Given the description of an element on the screen output the (x, y) to click on. 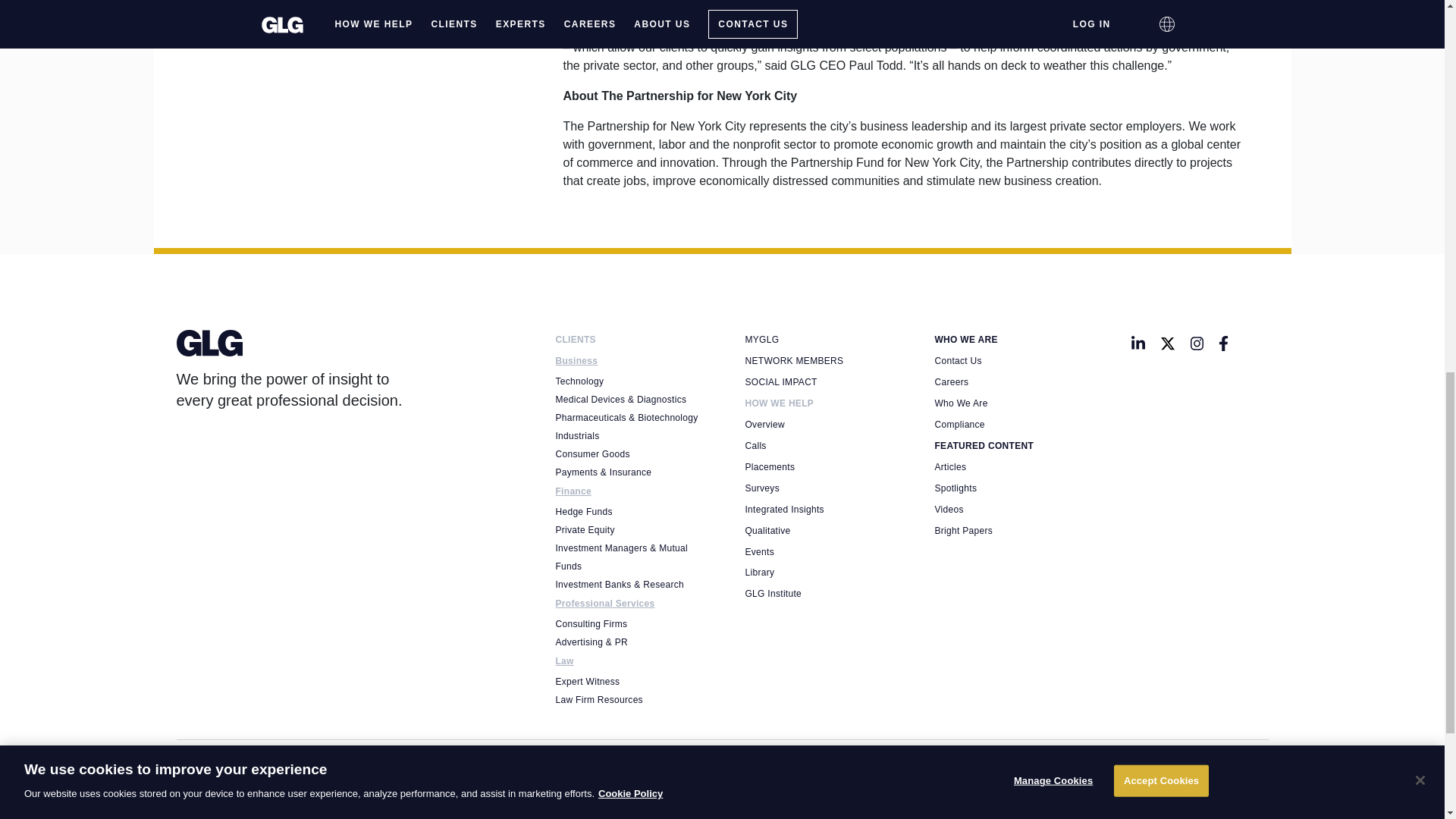
Twitter (1167, 343)
Instagram (1197, 343)
LinkedIn (1137, 343)
